Given the description of an element on the screen output the (x, y) to click on. 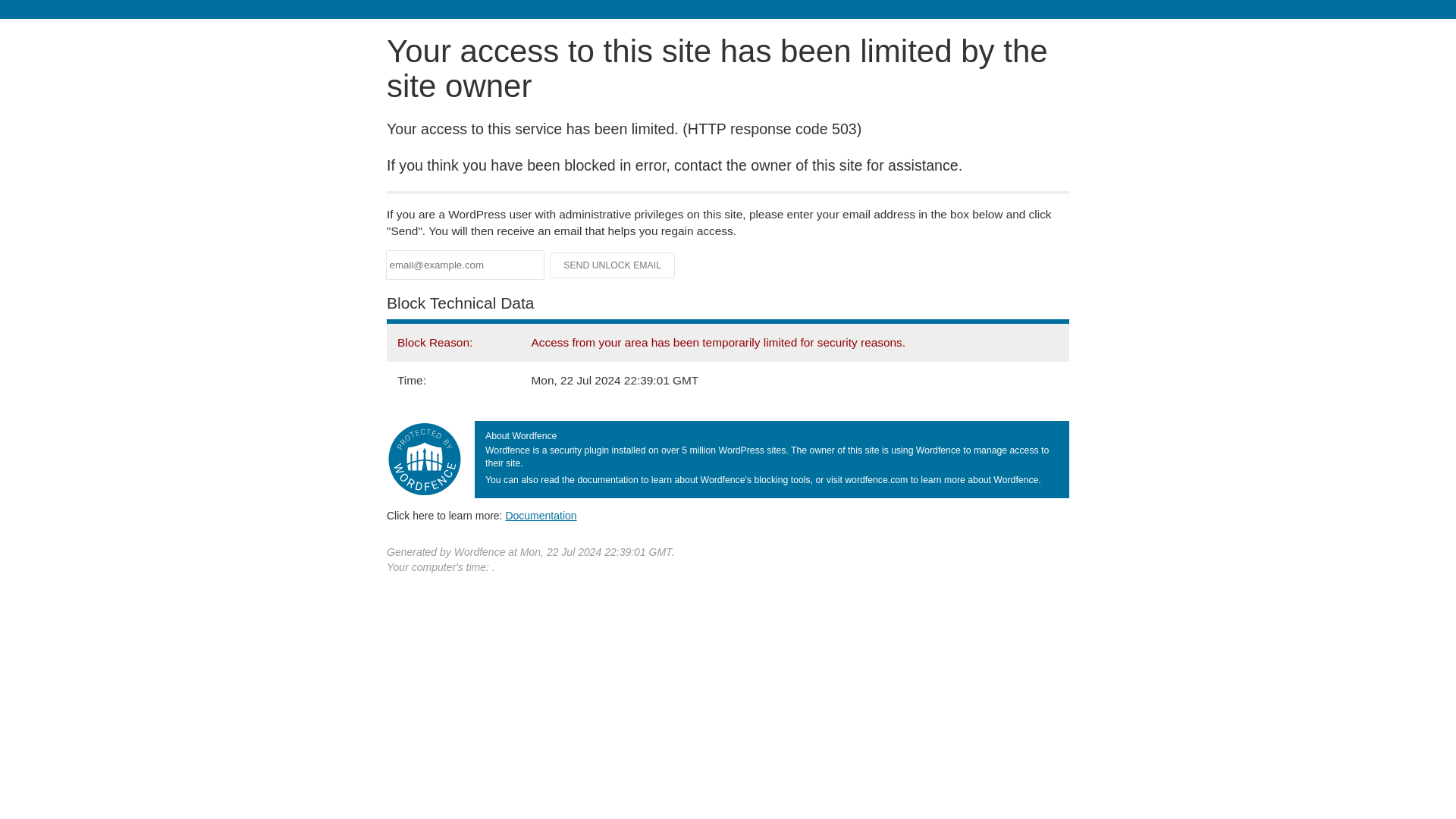
Send Unlock Email (612, 265)
Send Unlock Email (612, 265)
Documentation (540, 515)
